Given the description of an element on the screen output the (x, y) to click on. 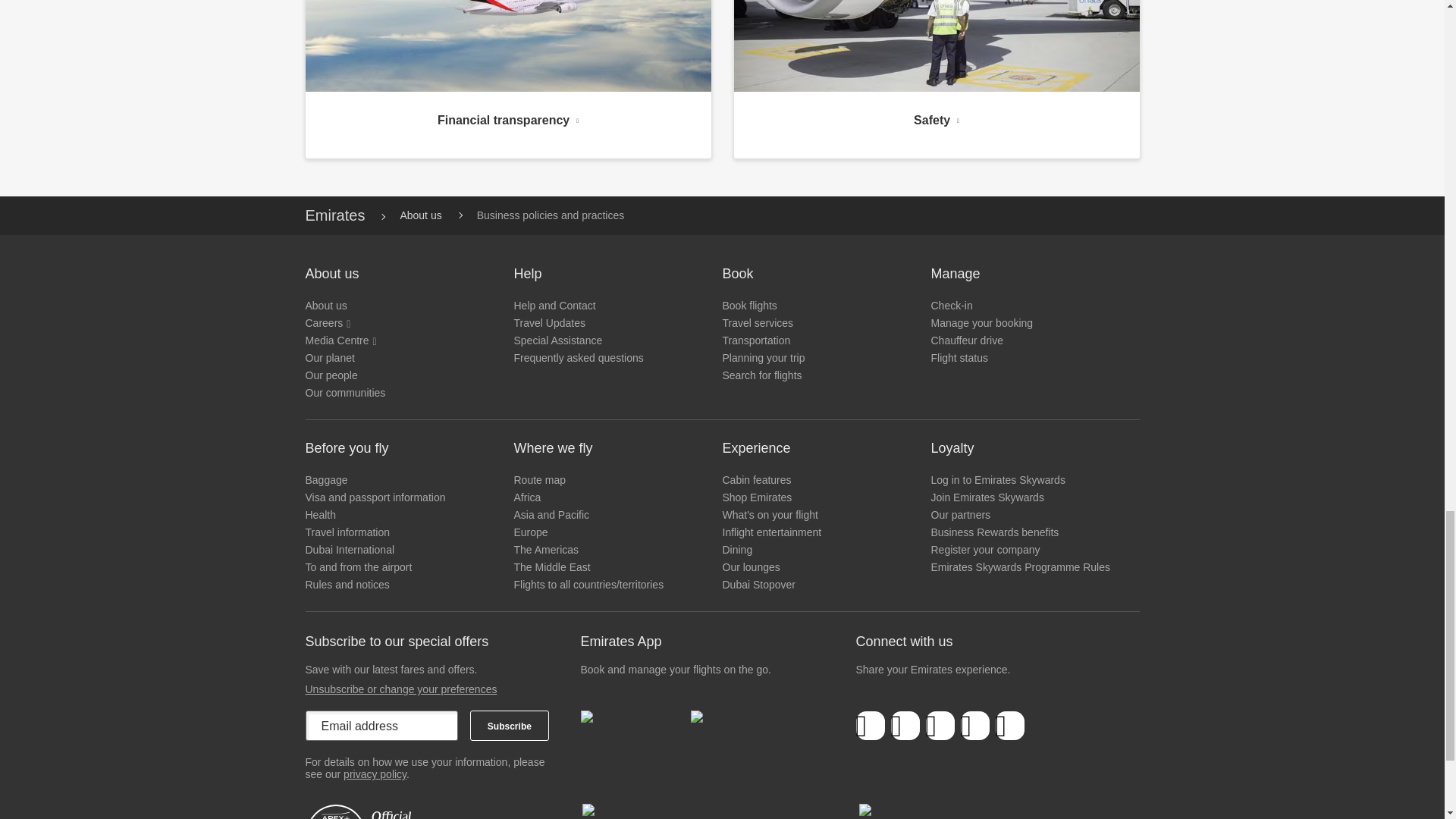
Unsubscribe or change your preferences (400, 689)
Instagram (1009, 726)
Facebook (870, 726)
Apex five star rating 2021 (673, 811)
World Class Airline APEX Official Airline Ratings (395, 811)
privacy policy (374, 774)
Safety (936, 116)
Emirates A380 (507, 45)
Financial transparency (507, 116)
X-social (904, 726)
dnata staff on airfield (936, 45)
Youtube (974, 726)
LinkedIn (939, 726)
